Given the description of an element on the screen output the (x, y) to click on. 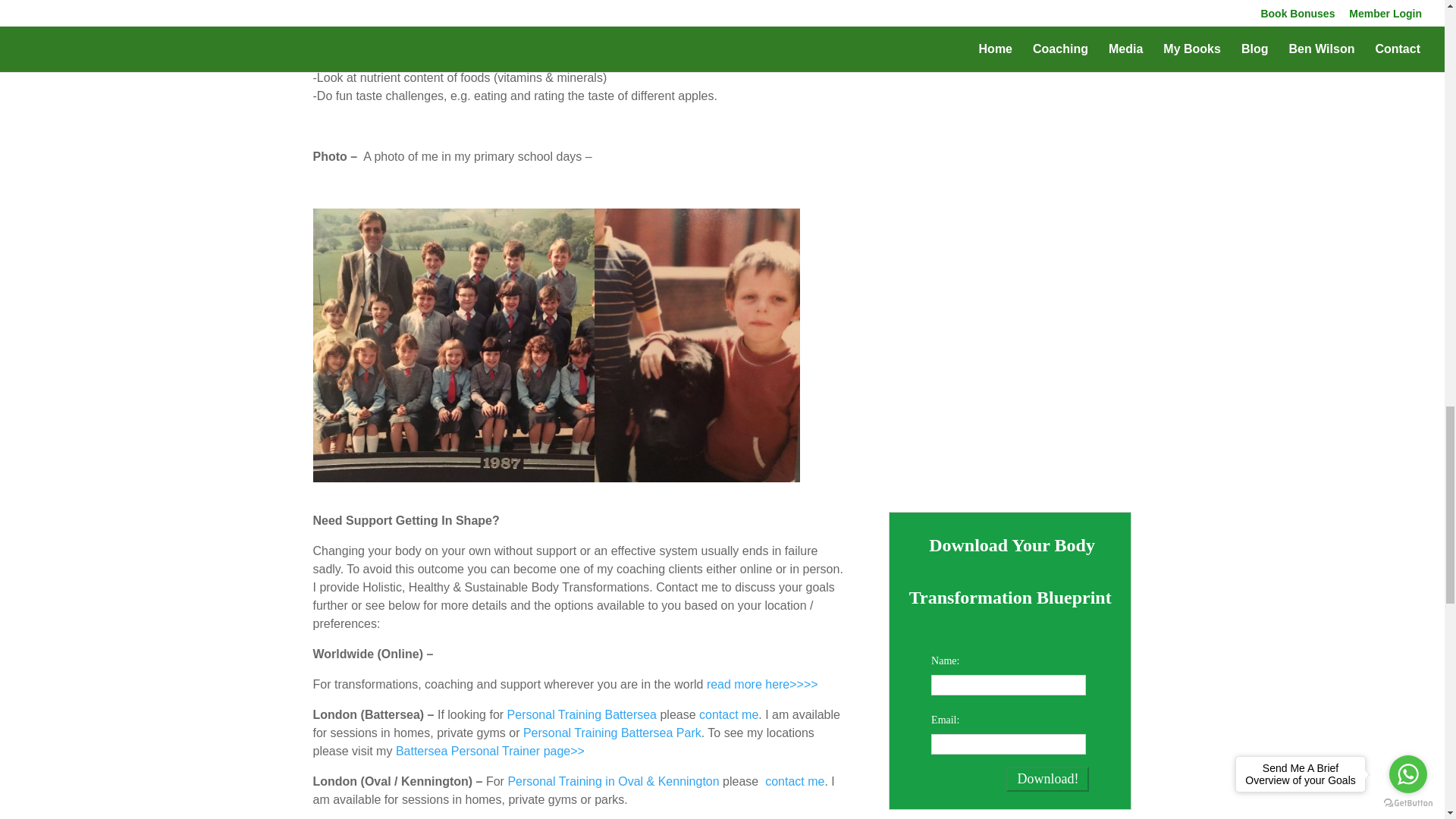
Personal Training Battersea (581, 714)
Personal Training Battersea Park (611, 732)
contact me (794, 780)
Download! (1047, 778)
contact me (728, 714)
